Given the description of an element on the screen output the (x, y) to click on. 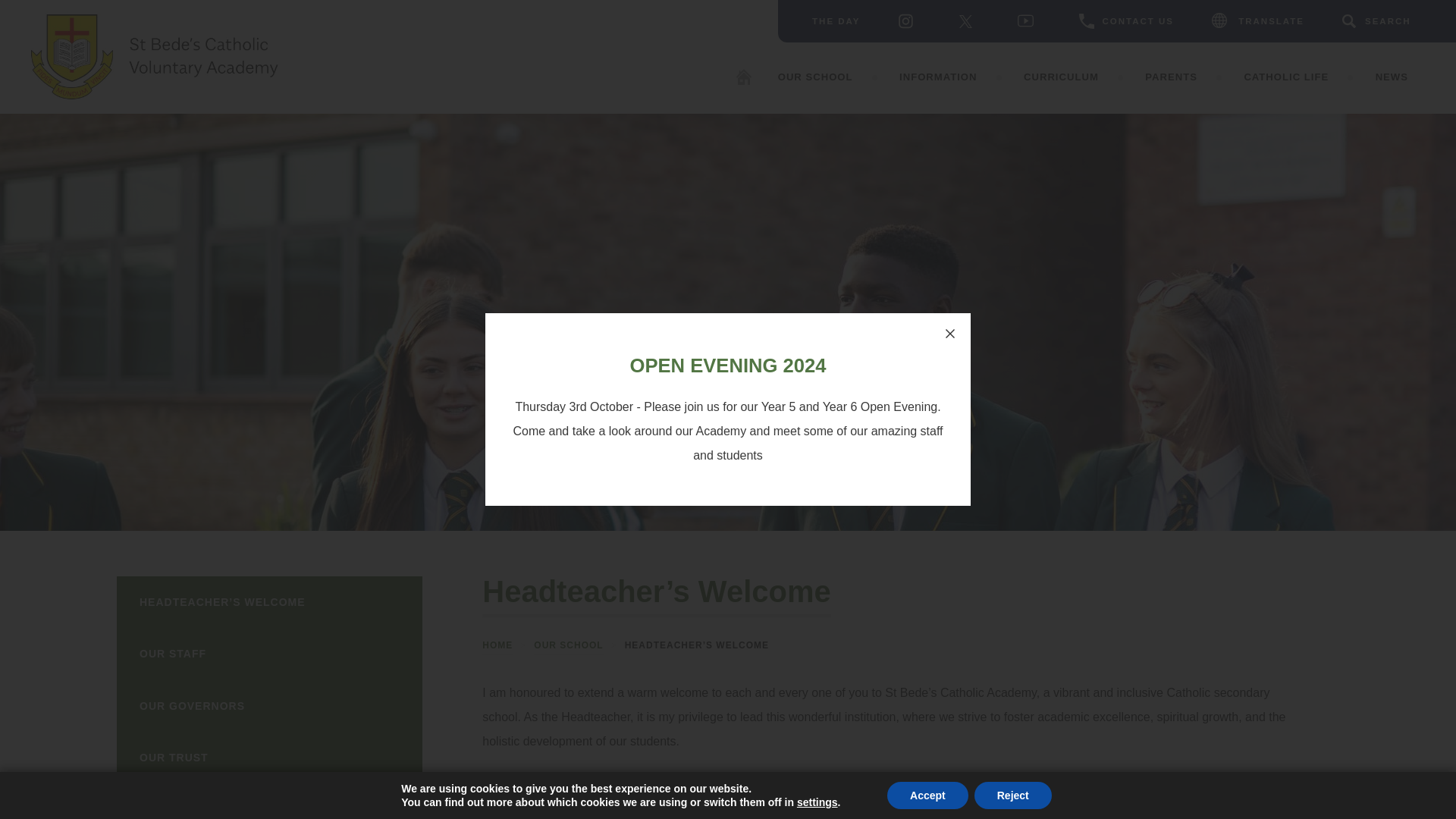
CONTACT US (1125, 20)
